Given the description of an element on the screen output the (x, y) to click on. 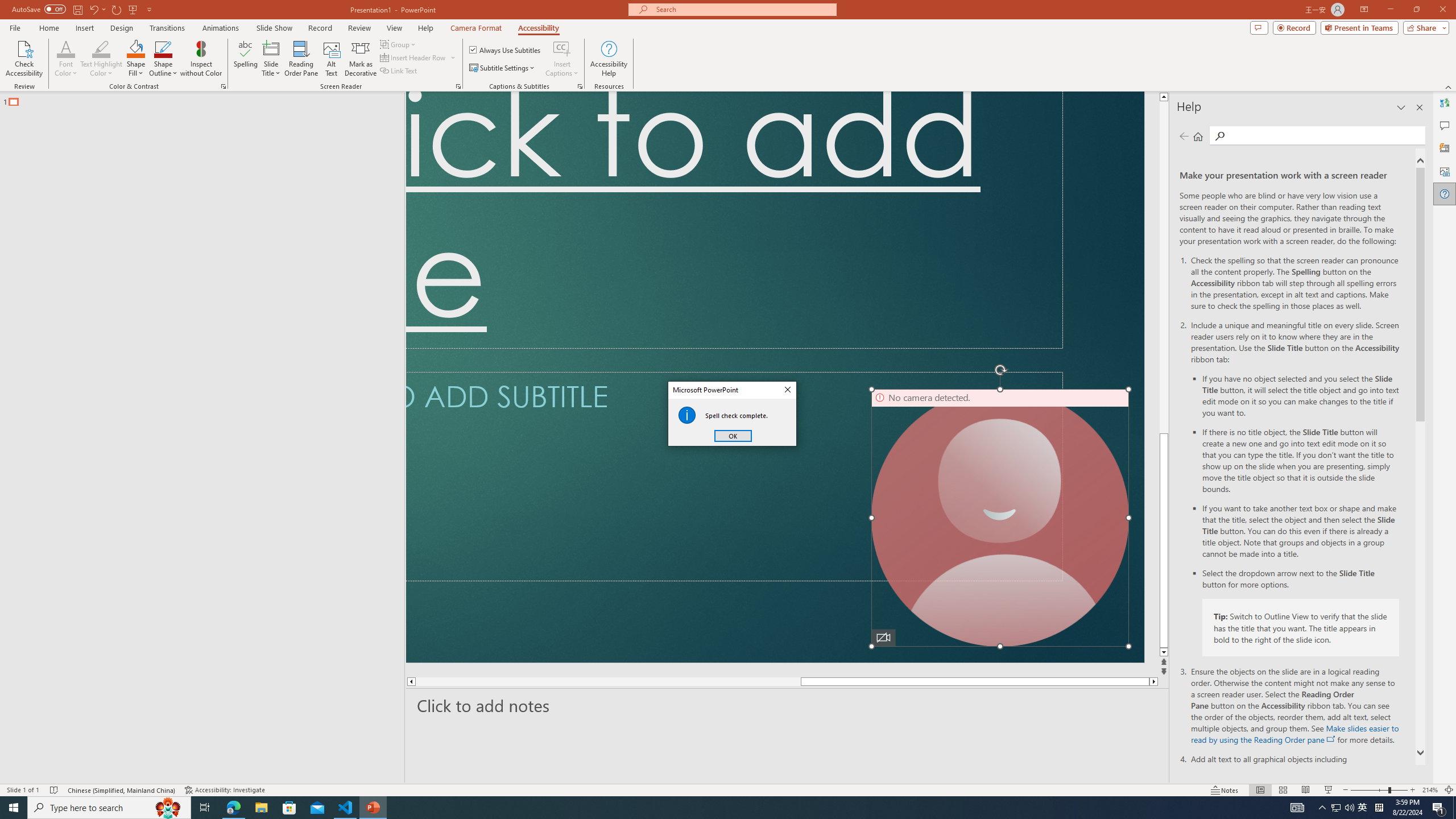
OK (732, 435)
Insert Captions (561, 58)
Always Use Subtitles (505, 49)
